Given the description of an element on the screen output the (x, y) to click on. 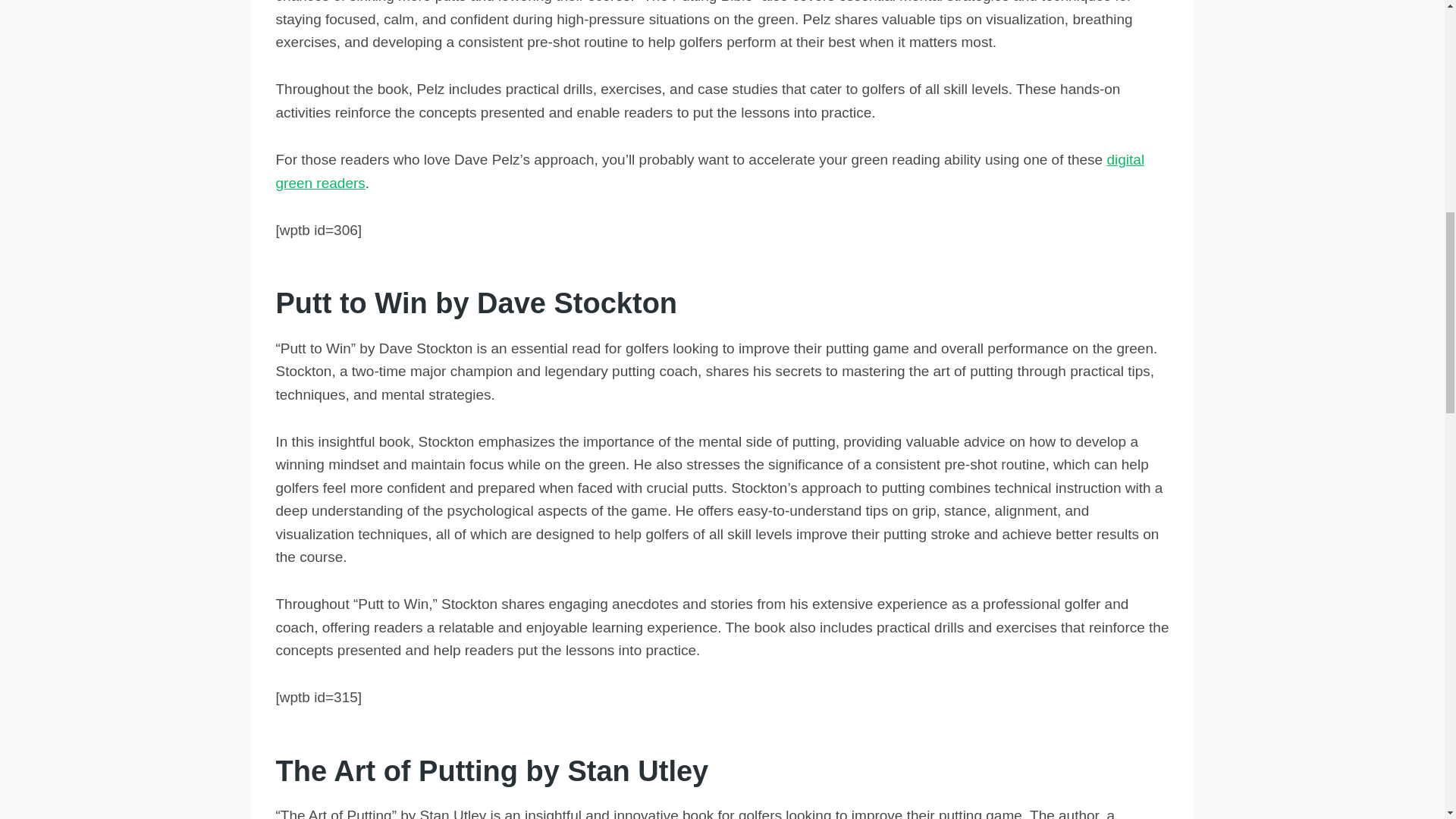
digital green readers (710, 170)
